Given the description of an element on the screen output the (x, y) to click on. 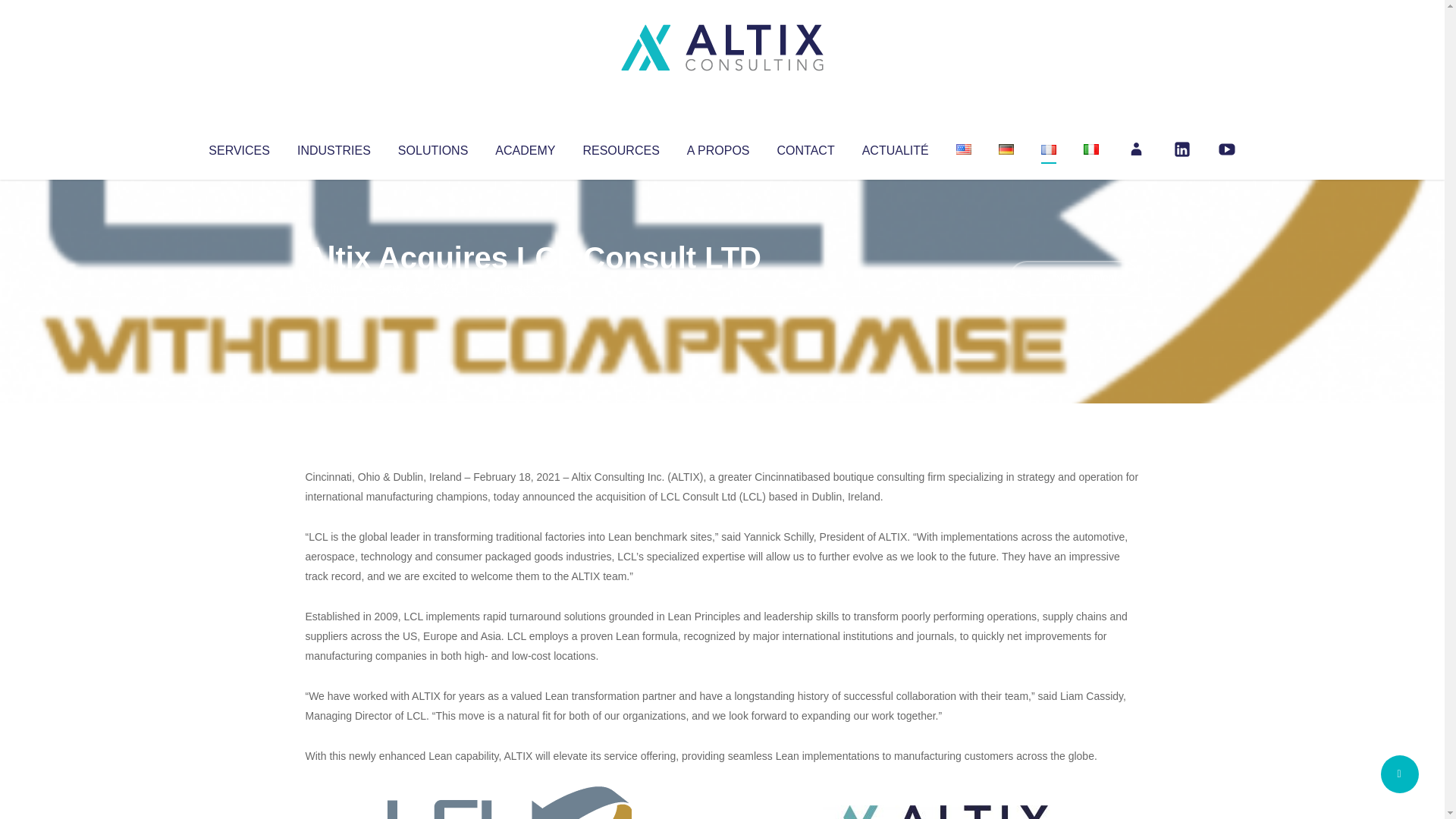
Articles par Altix (333, 287)
RESOURCES (620, 146)
A PROPOS (718, 146)
SERVICES (238, 146)
ACADEMY (524, 146)
No Comments (1073, 278)
SOLUTIONS (432, 146)
INDUSTRIES (334, 146)
Uncategorized (530, 287)
Altix (333, 287)
